Given the description of an element on the screen output the (x, y) to click on. 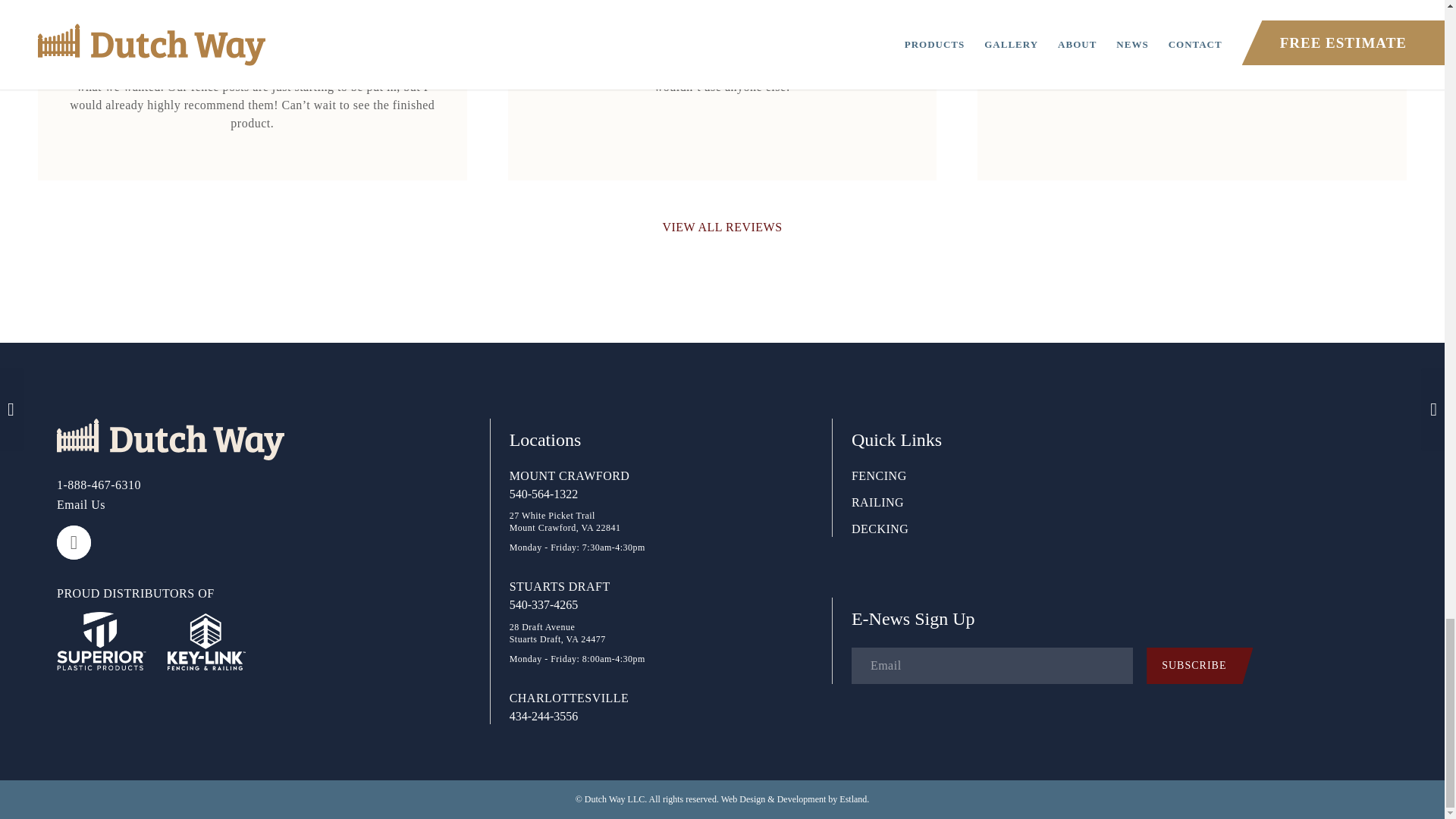
Subscribe (1199, 665)
